Given the description of an element on the screen output the (x, y) to click on. 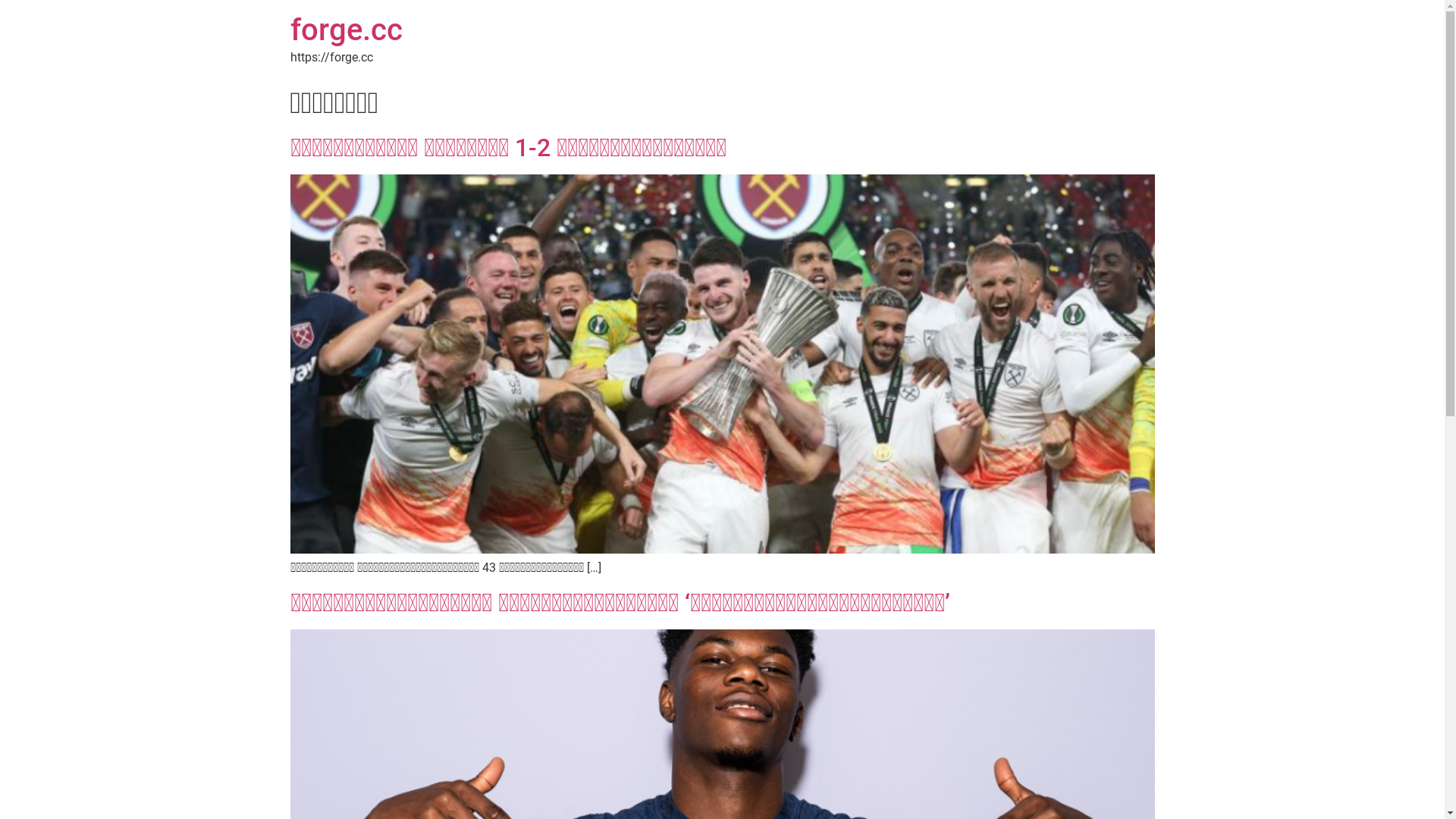
forge.cc Element type: text (345, 29)
